Given the description of an element on the screen output the (x, y) to click on. 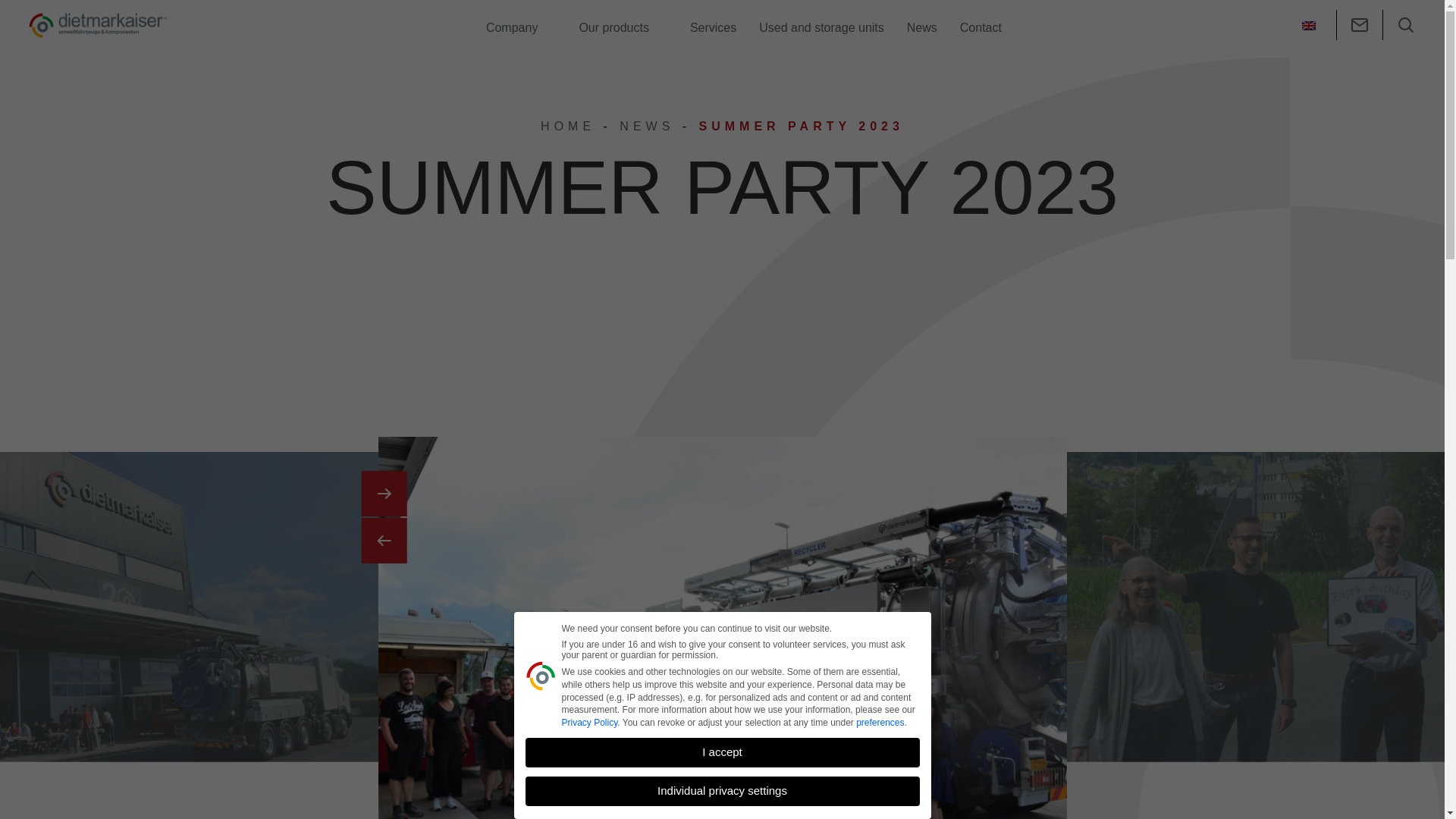
Contact (981, 22)
Services (713, 22)
News (922, 22)
Our products (622, 24)
HOME (567, 125)
Company (520, 24)
Used and storage units (821, 22)
NEWS (647, 125)
